Given the description of an element on the screen output the (x, y) to click on. 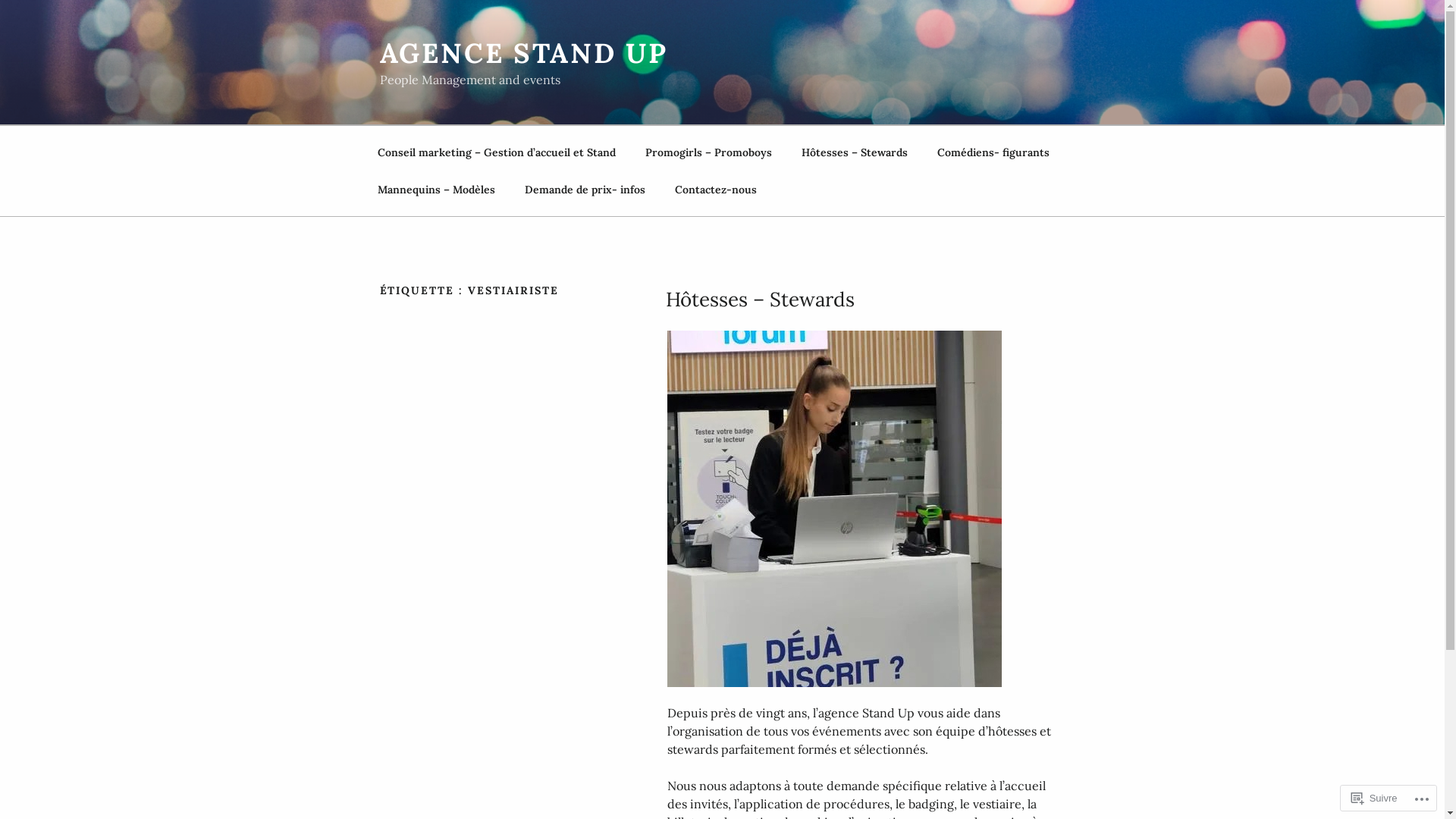
Demande de prix- infos Element type: text (584, 189)
Suivre Element type: text (1374, 797)
Contactez-nous Element type: text (715, 189)
AGENCE STAND UP Element type: text (523, 52)
